Given the description of an element on the screen output the (x, y) to click on. 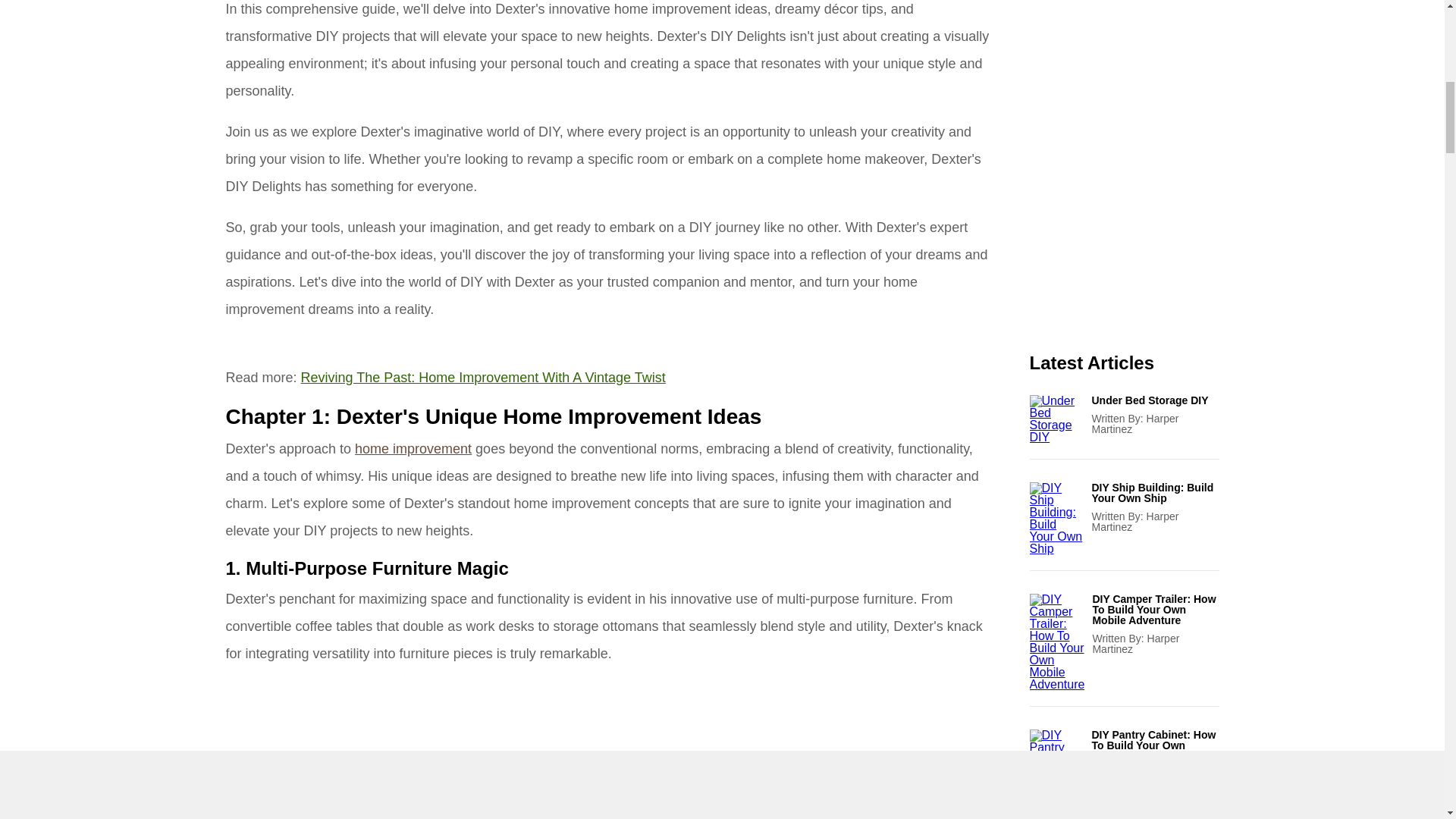
home improvement (413, 448)
